Given the description of an element on the screen output the (x, y) to click on. 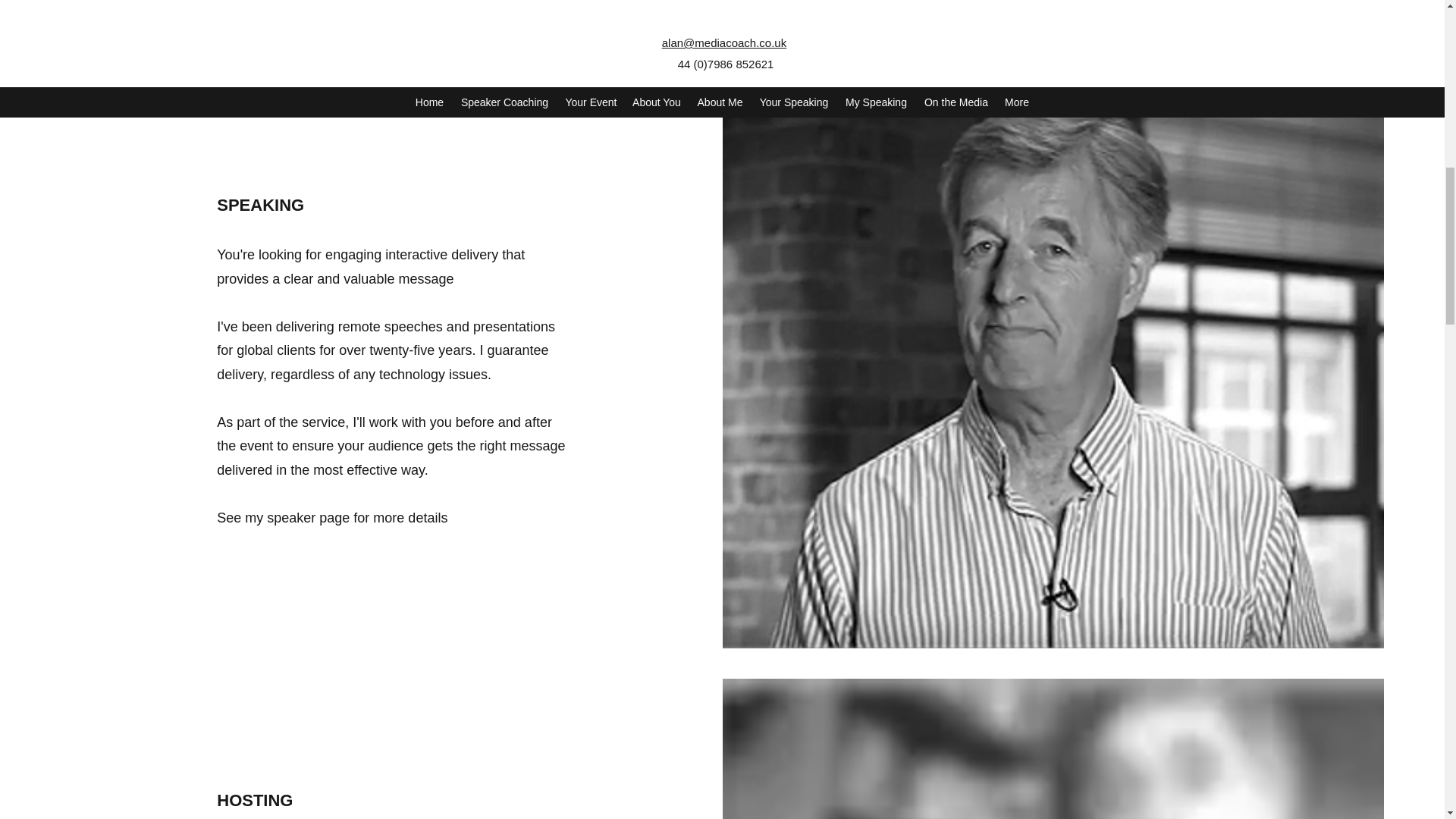
See my speaker page for more details (331, 517)
